Given the description of an element on the screen output the (x, y) to click on. 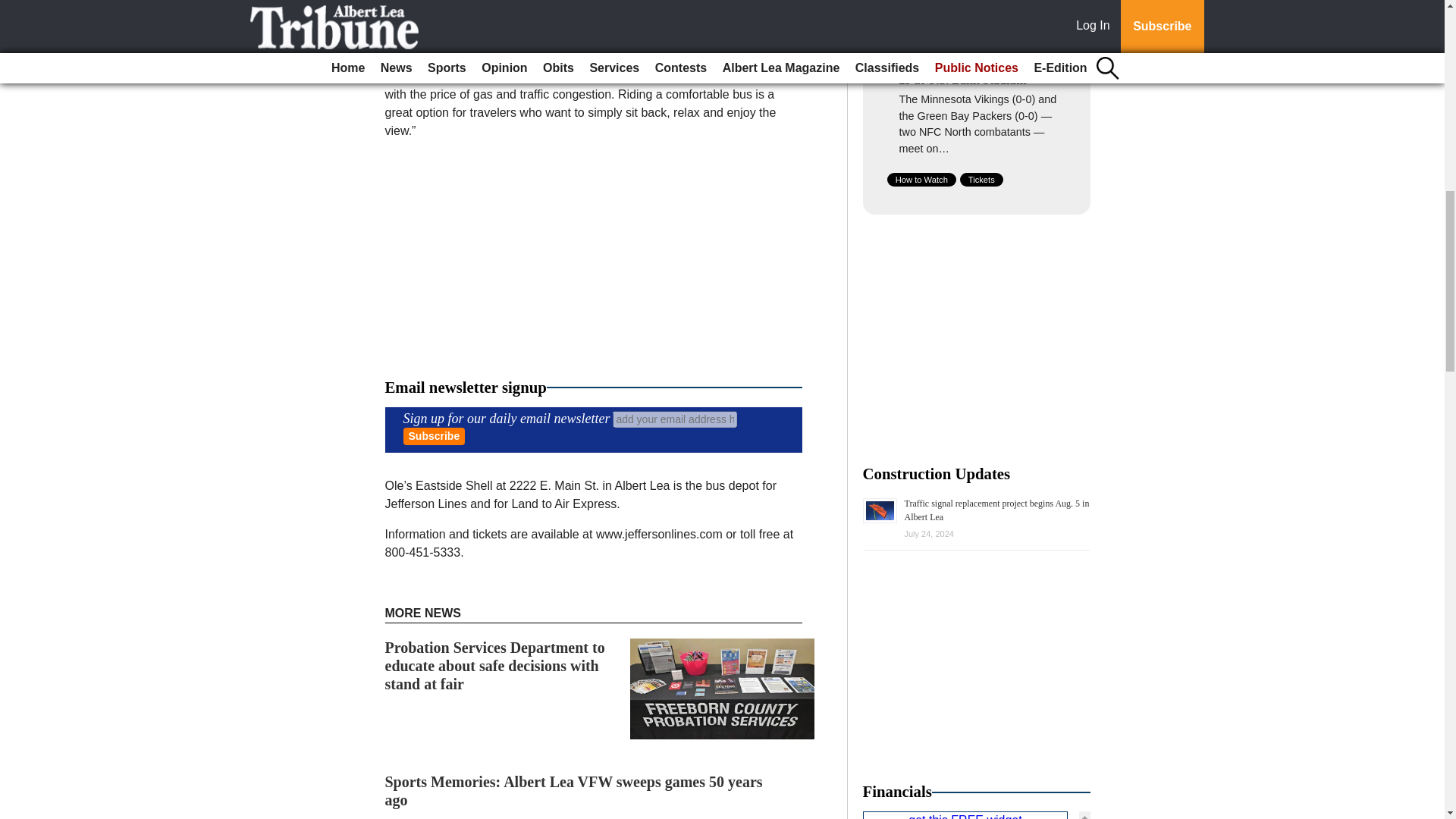
US Market Update (976, 815)
Subscribe (434, 436)
Sports Memories: Albert Lea VFW sweeps games 50 years ago (573, 790)
